Given the description of an element on the screen output the (x, y) to click on. 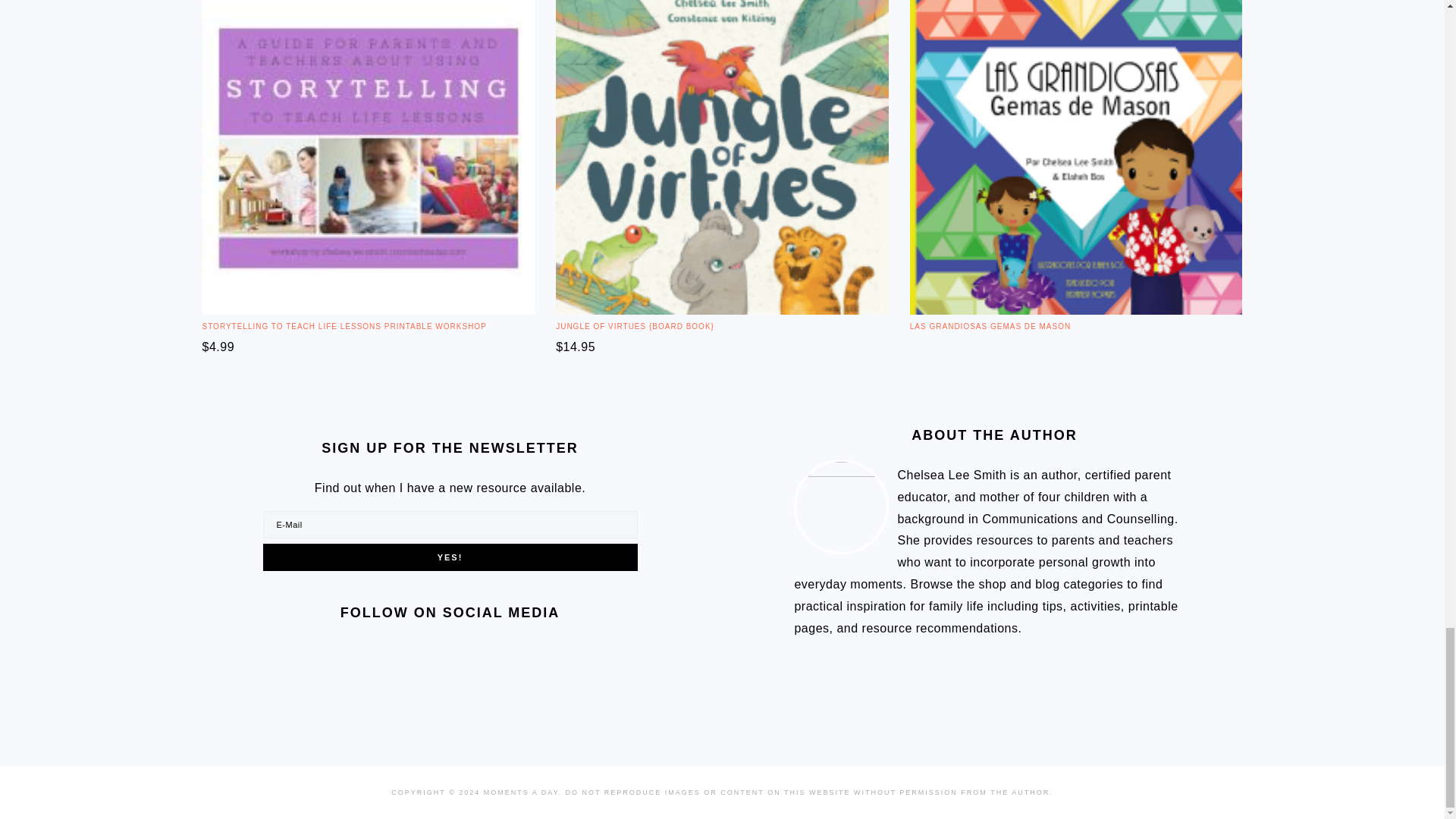
YES! (449, 556)
